Given the description of an element on the screen output the (x, y) to click on. 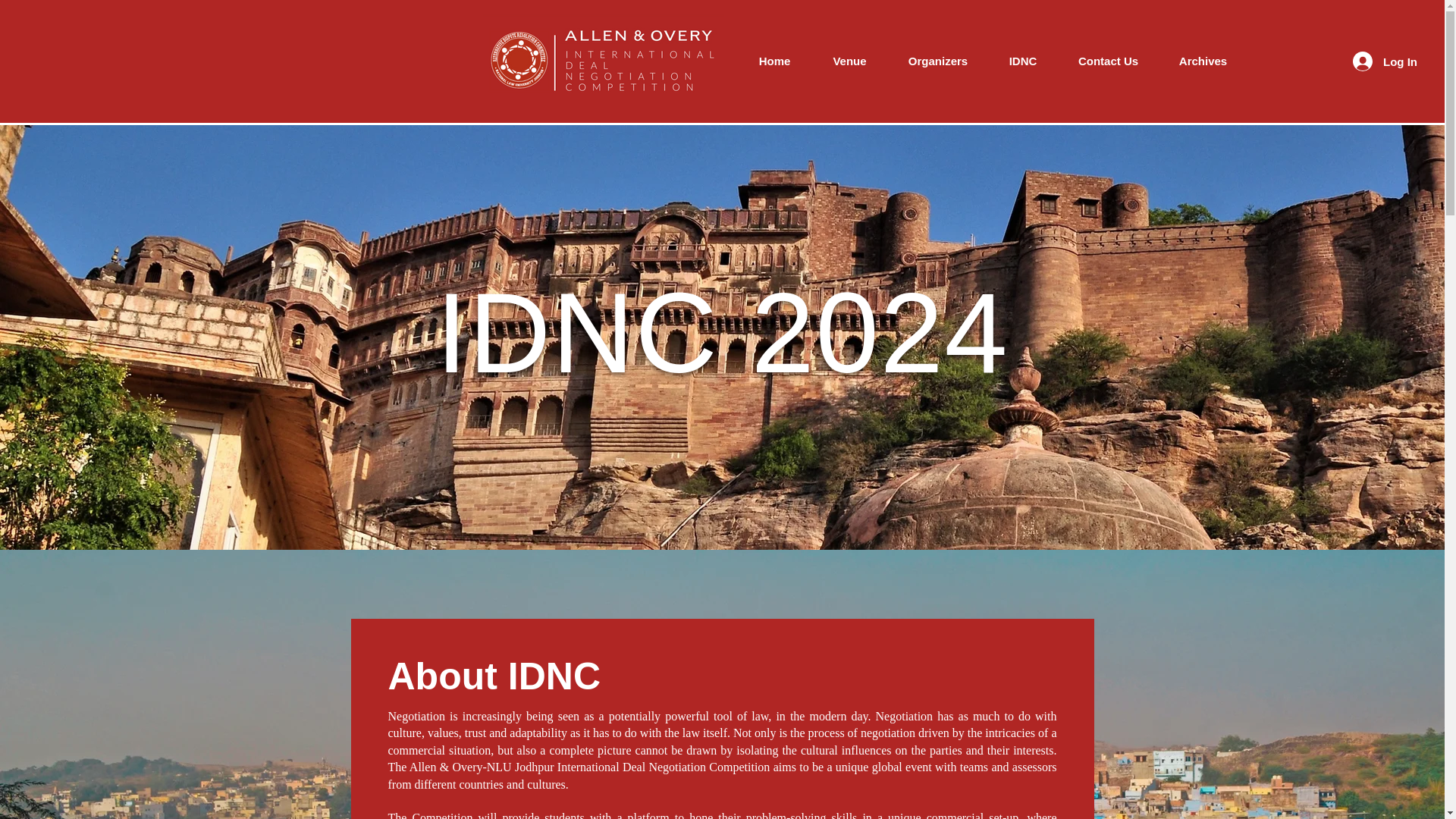
Venue (849, 60)
IDNC (1022, 60)
Log In (1385, 61)
Contact Us (1108, 60)
Organizers (938, 60)
Home (774, 60)
Archives (1202, 60)
